Given the description of an element on the screen output the (x, y) to click on. 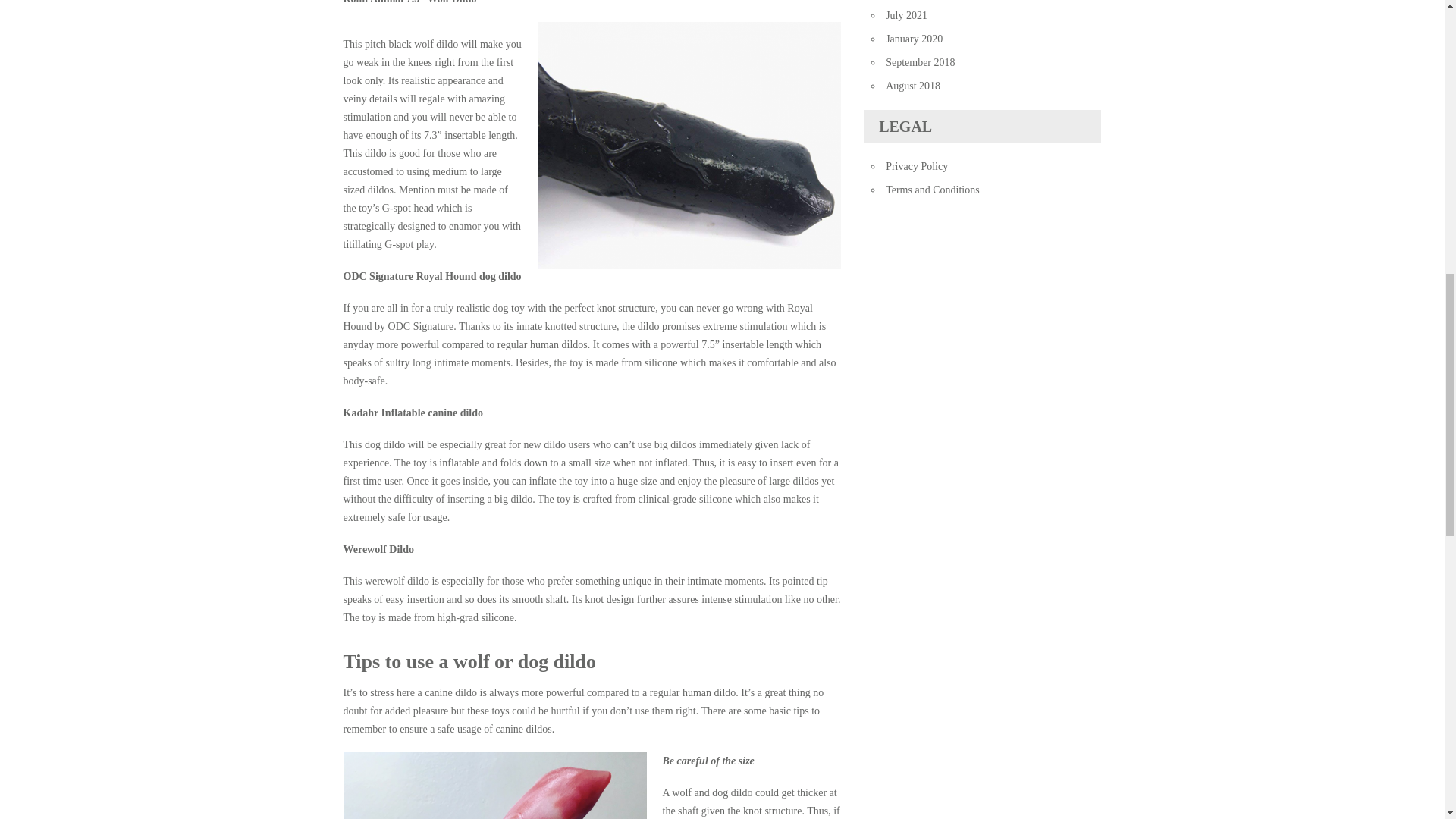
August 2018 (912, 85)
September 2018 (920, 61)
Terms and Conditions (931, 189)
July 2021 (906, 15)
Privacy Policy (916, 165)
January 2020 (913, 39)
